Given the description of an element on the screen output the (x, y) to click on. 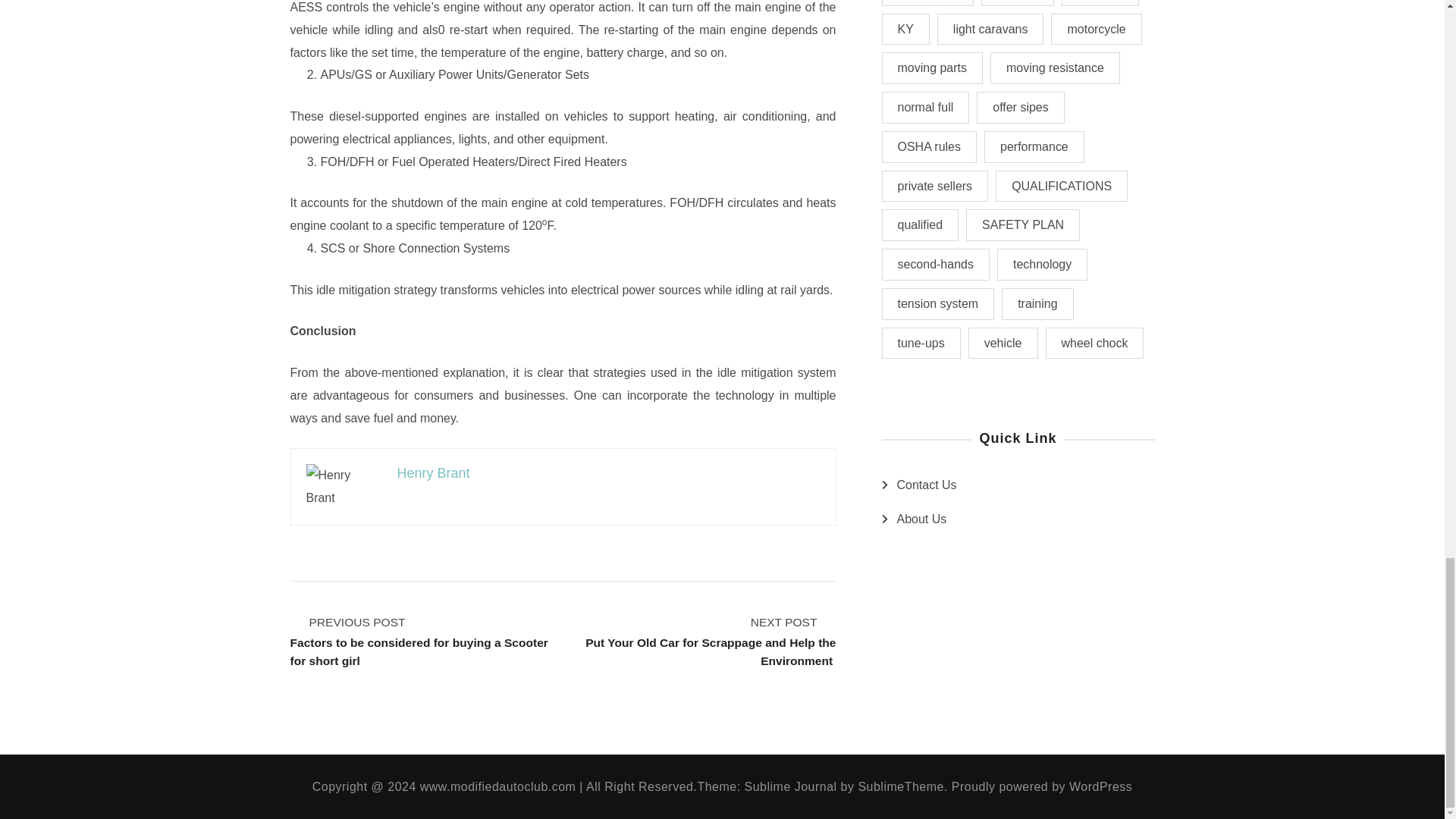
Henry Brant (433, 473)
